Given the description of an element on the screen output the (x, y) to click on. 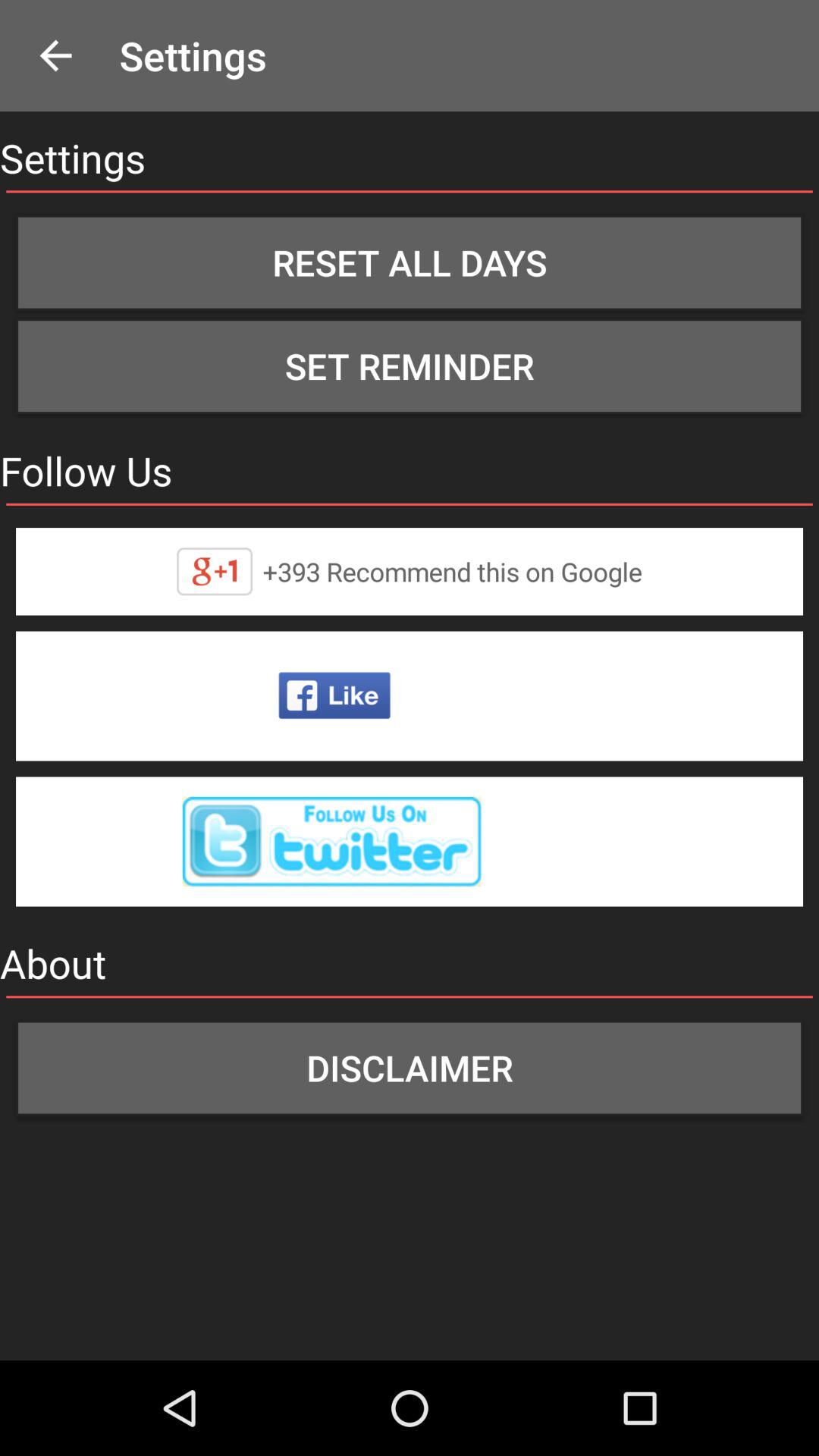
tap item below reset all days icon (409, 366)
